Given the description of an element on the screen output the (x, y) to click on. 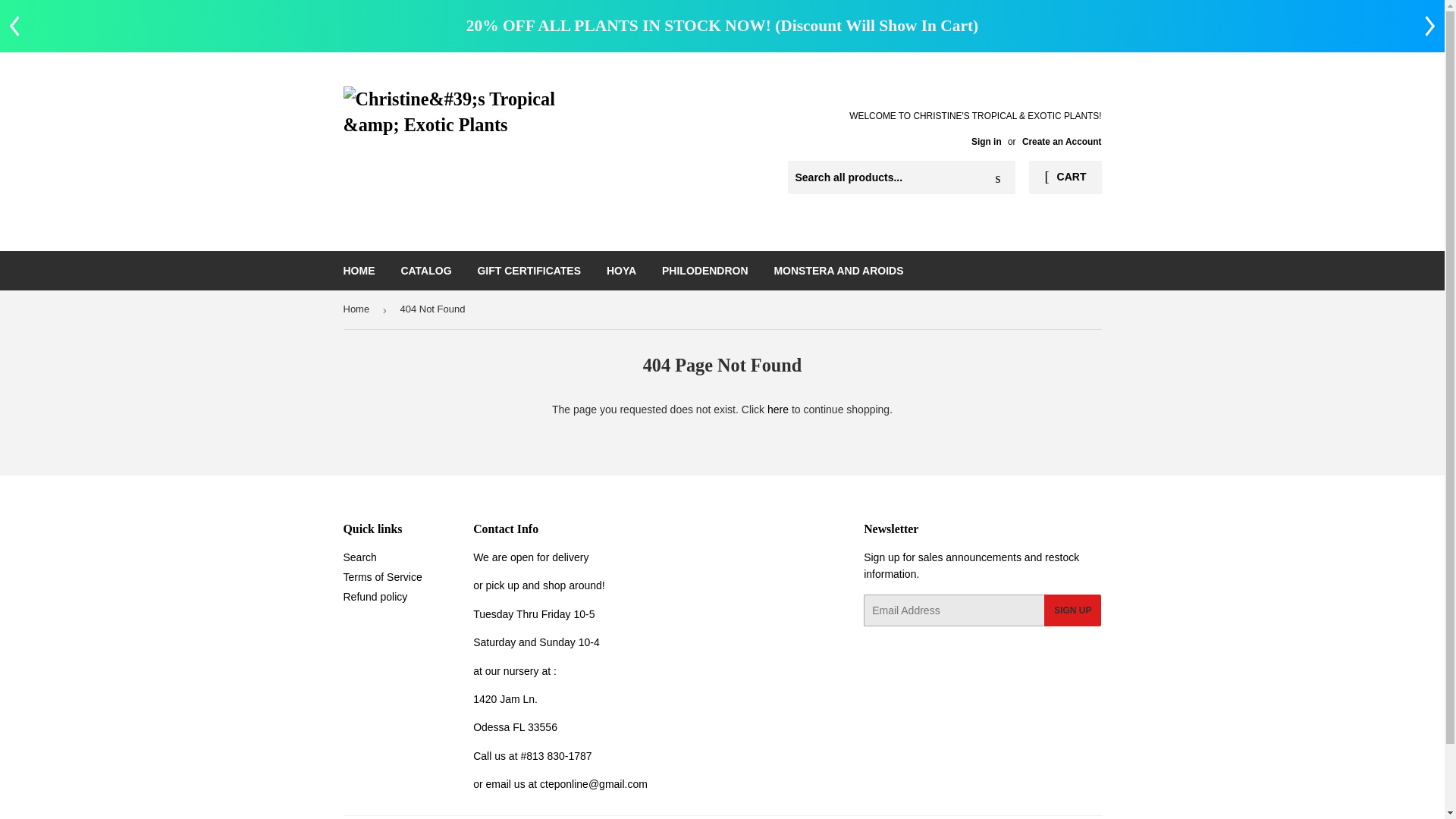
Search (358, 557)
PHILODENDRON (705, 270)
HOYA (621, 270)
Refund policy (374, 596)
Create an Account (1062, 141)
Sign in (986, 141)
HOME (359, 270)
GIFT CERTIFICATES (528, 270)
CART (1064, 177)
MONSTERA AND AROIDS (837, 270)
SIGN UP (1071, 610)
Terms of Service (382, 576)
CATALOG (425, 270)
Search (997, 178)
here (778, 409)
